Given the description of an element on the screen output the (x, y) to click on. 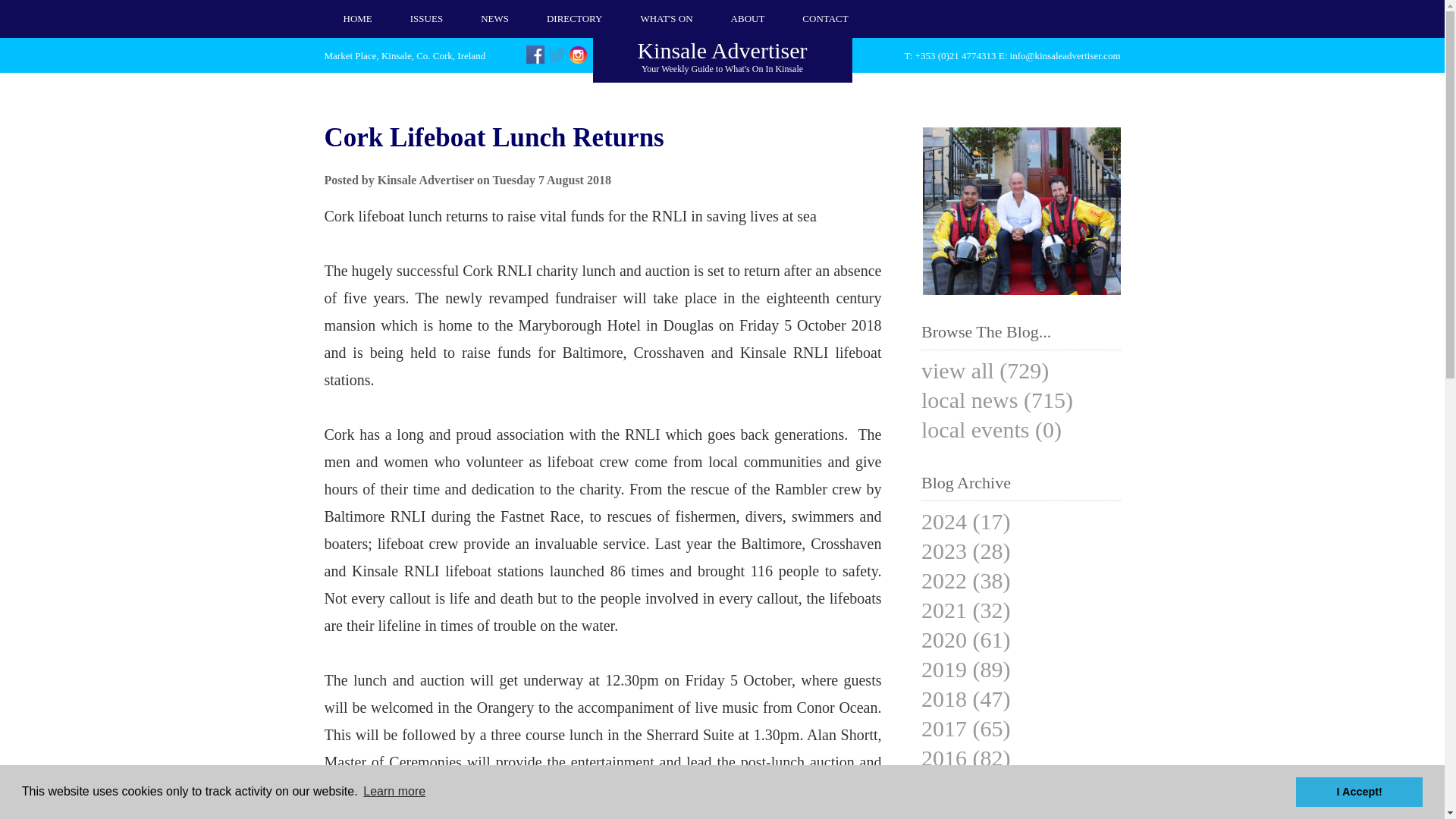
HOME (357, 18)
CONTACT (824, 18)
NEWS (494, 18)
Learn more (394, 791)
Kinsale Advertiser (1022, 291)
WHAT'S ON (721, 56)
DIRECTORY (666, 18)
ABOUT (574, 18)
ISSUES (747, 18)
I Accept! (426, 18)
